Given the description of an element on the screen output the (x, y) to click on. 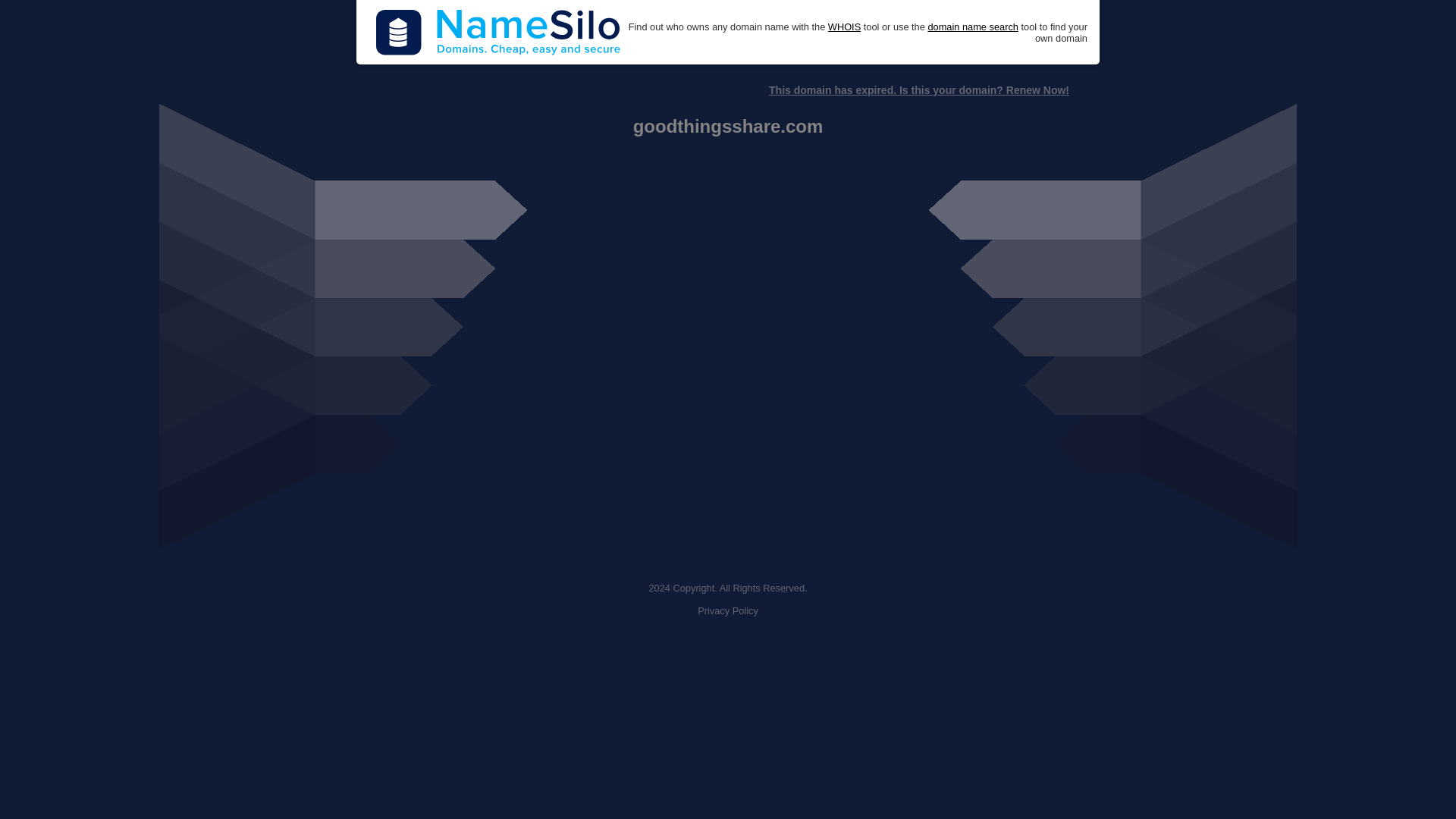
Privacy Policy (727, 610)
domain name search (972, 26)
WHOIS (844, 26)
This domain has expired. Is this your domain? Renew Now! (918, 90)
